Given the description of an element on the screen output the (x, y) to click on. 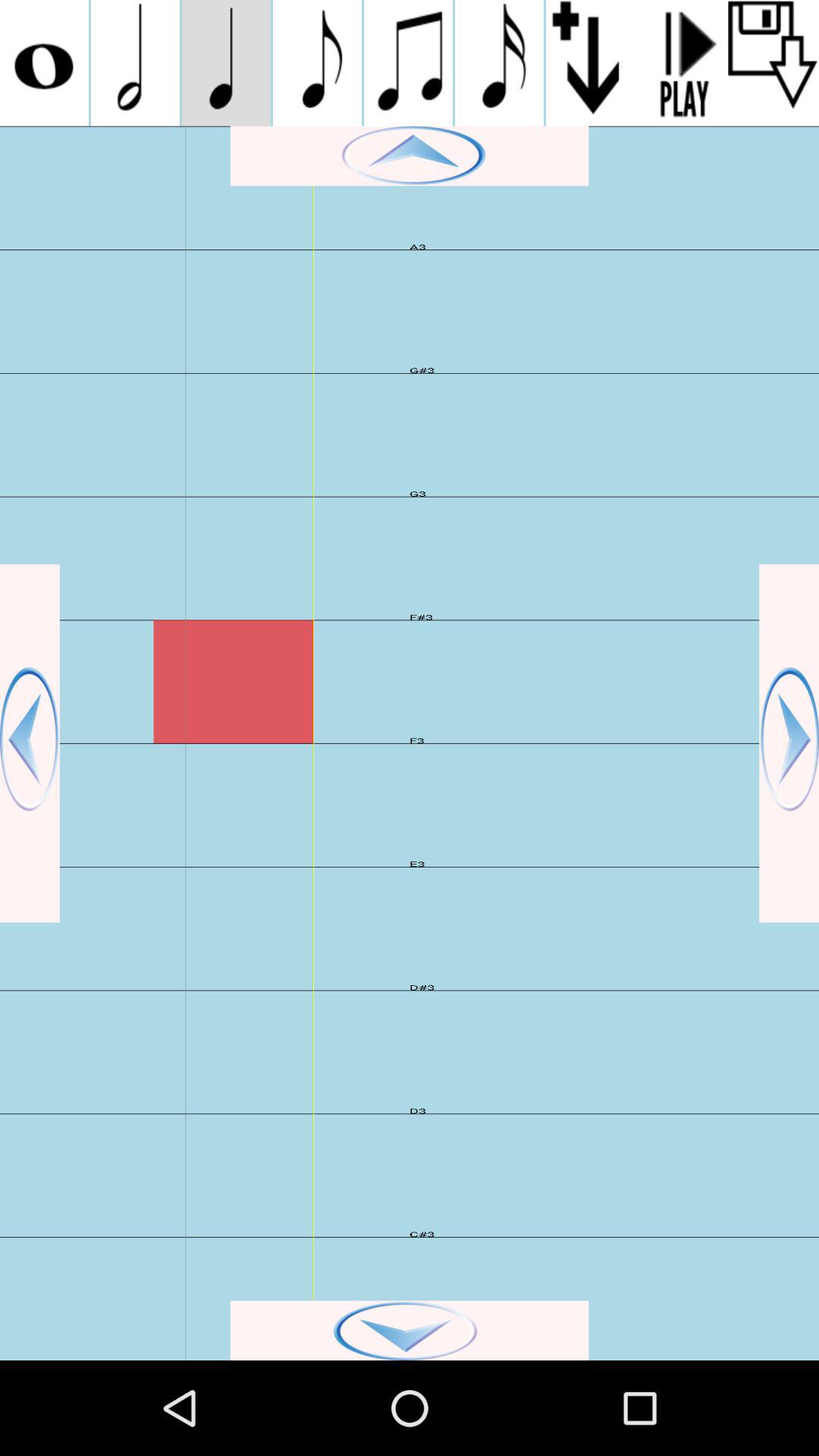
play (682, 63)
